Given the description of an element on the screen output the (x, y) to click on. 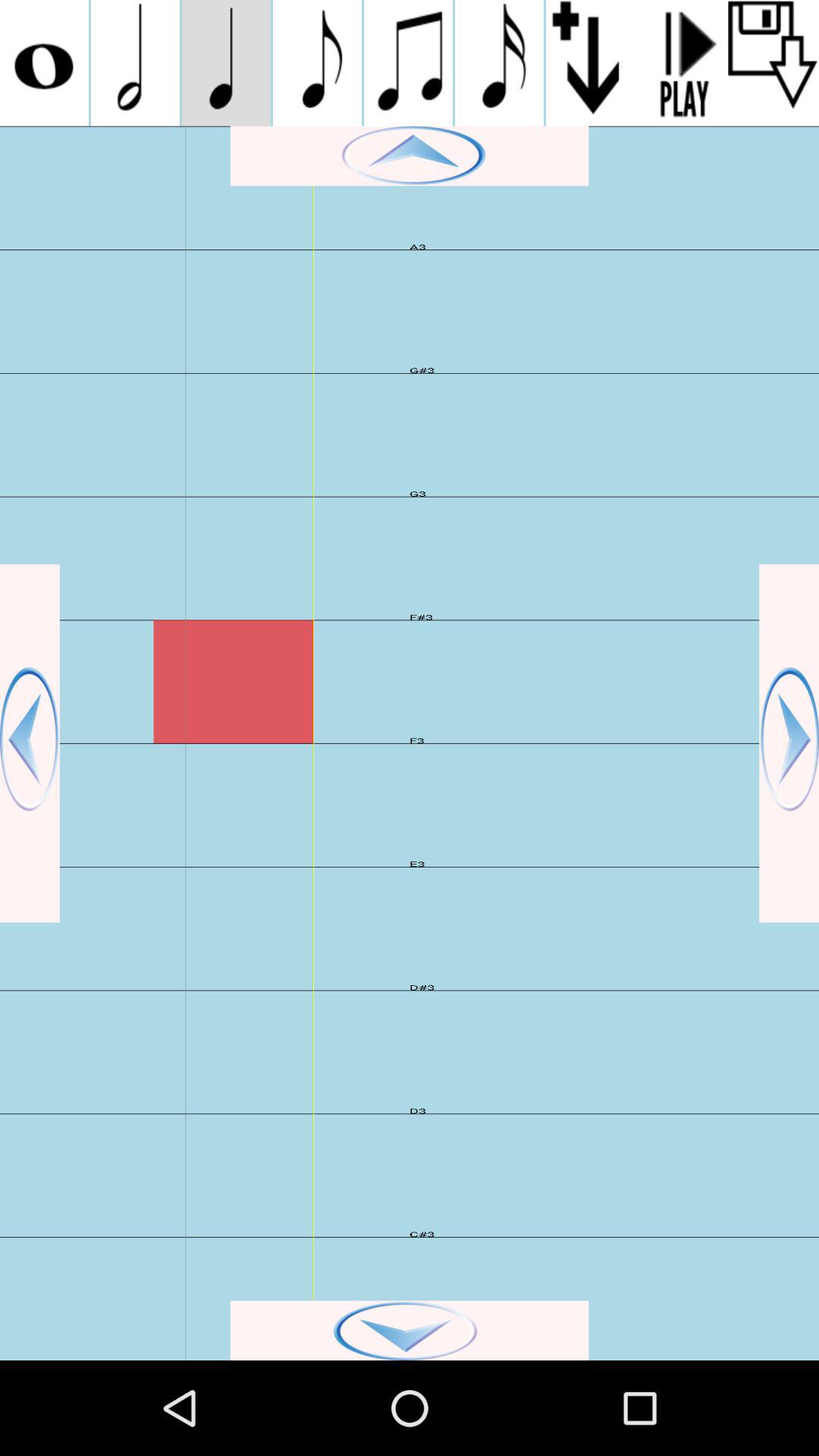
play (682, 63)
